Given the description of an element on the screen output the (x, y) to click on. 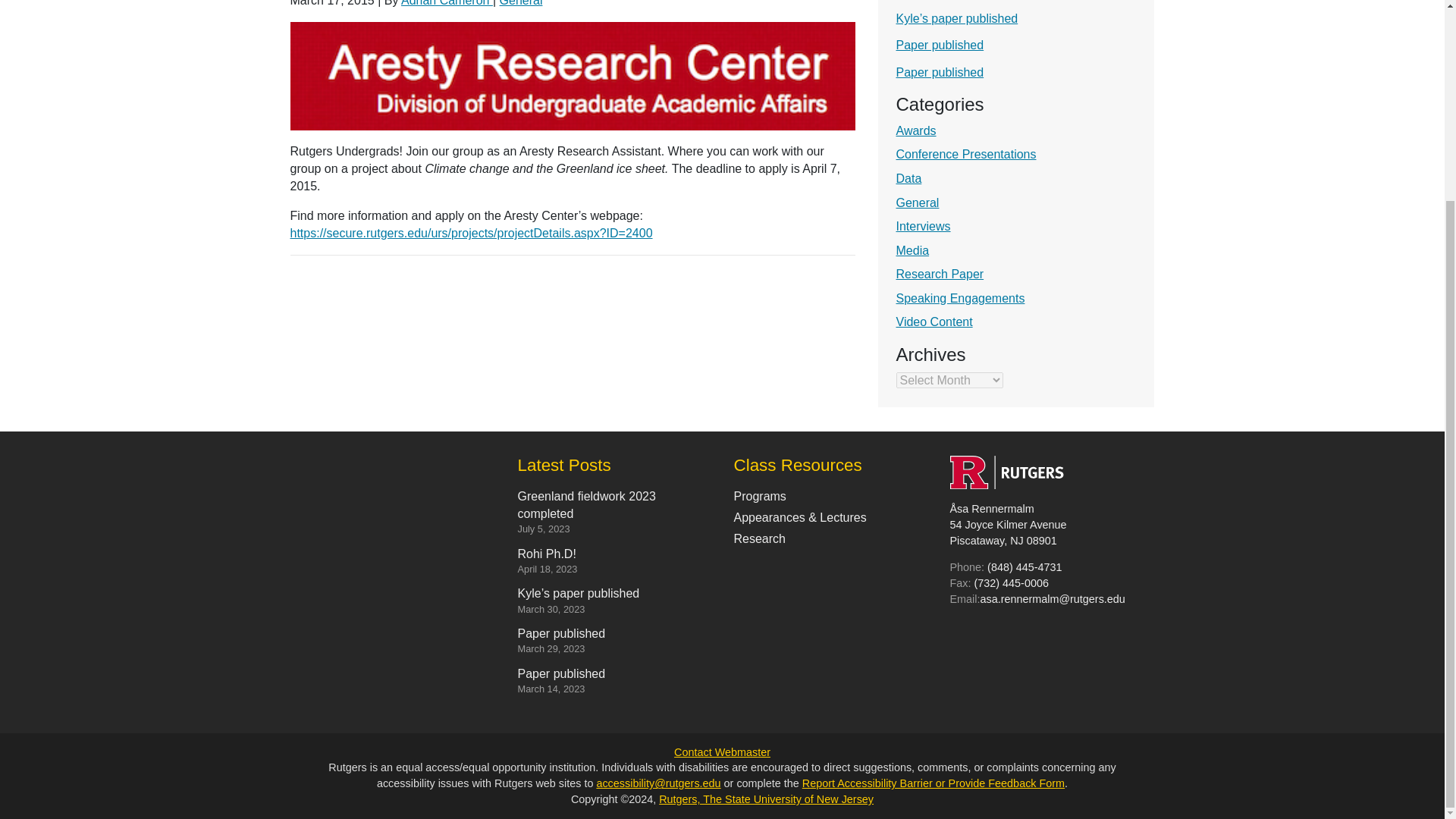
Paper published (940, 44)
Speaking Engagements (960, 297)
General (917, 202)
Conference Presentations (966, 154)
Interviews (923, 226)
Media (913, 250)
Paper published (940, 72)
Awards (916, 130)
Research Paper (940, 273)
Data (908, 178)
